Given the description of an element on the screen output the (x, y) to click on. 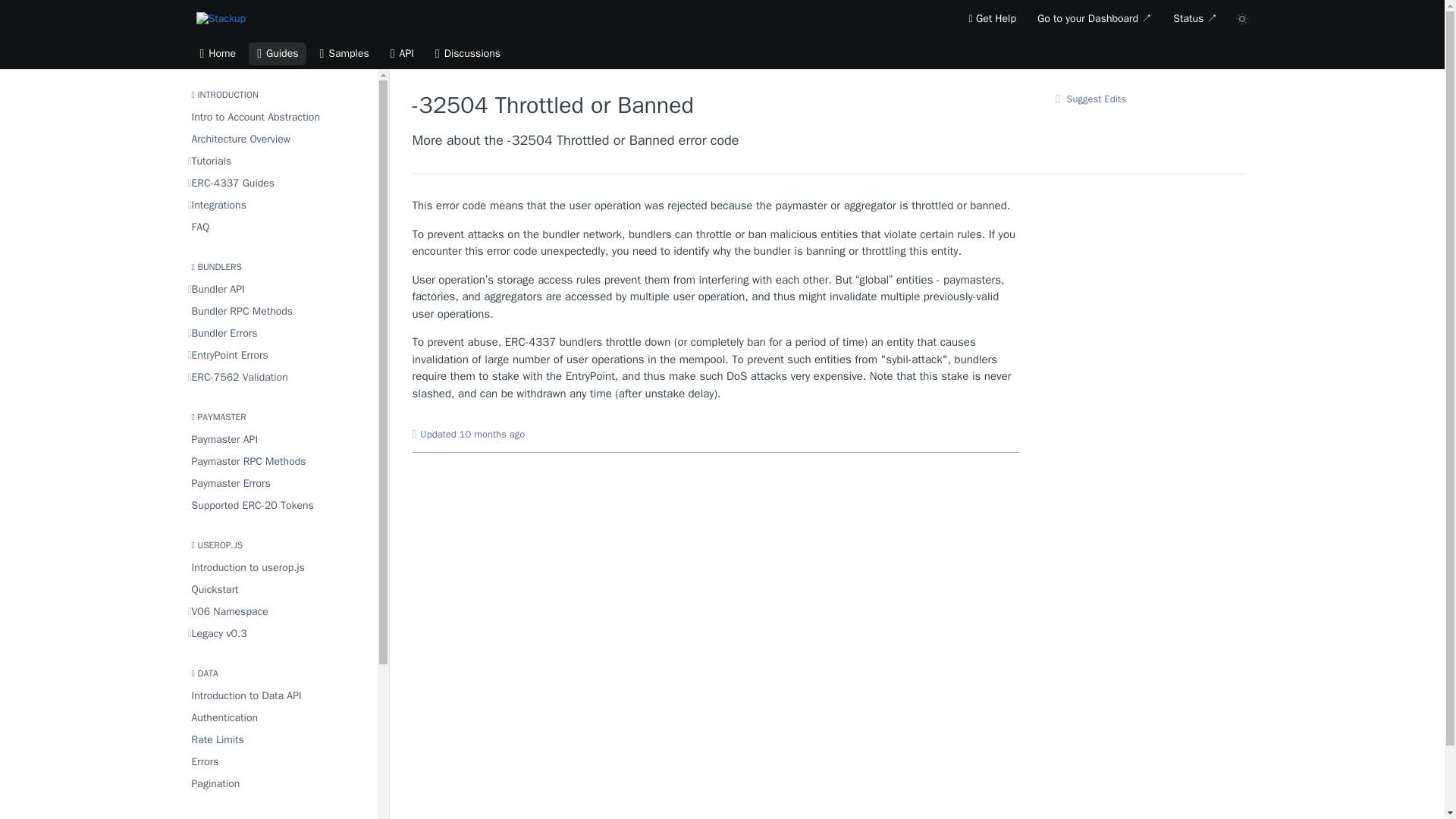
Intro to Account Abstraction (277, 117)
ERC-4337 Guides (277, 182)
Discussions (467, 53)
Home (217, 53)
Samples (344, 53)
API (401, 53)
Tutorials (277, 160)
Architecture Overview (277, 138)
Guides (276, 53)
